Given the description of an element on the screen output the (x, y) to click on. 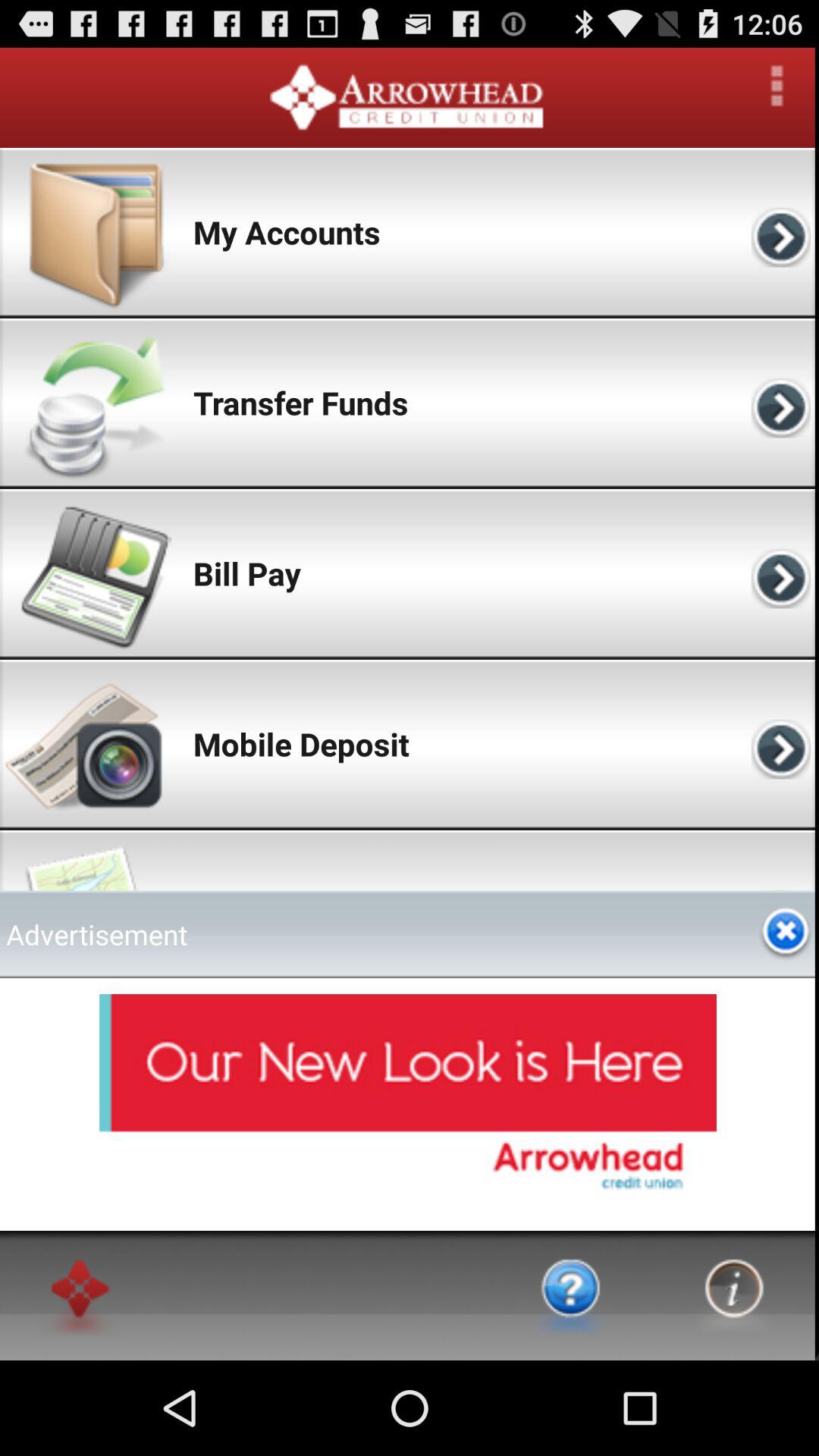
close advertisement (785, 933)
